Given the description of an element on the screen output the (x, y) to click on. 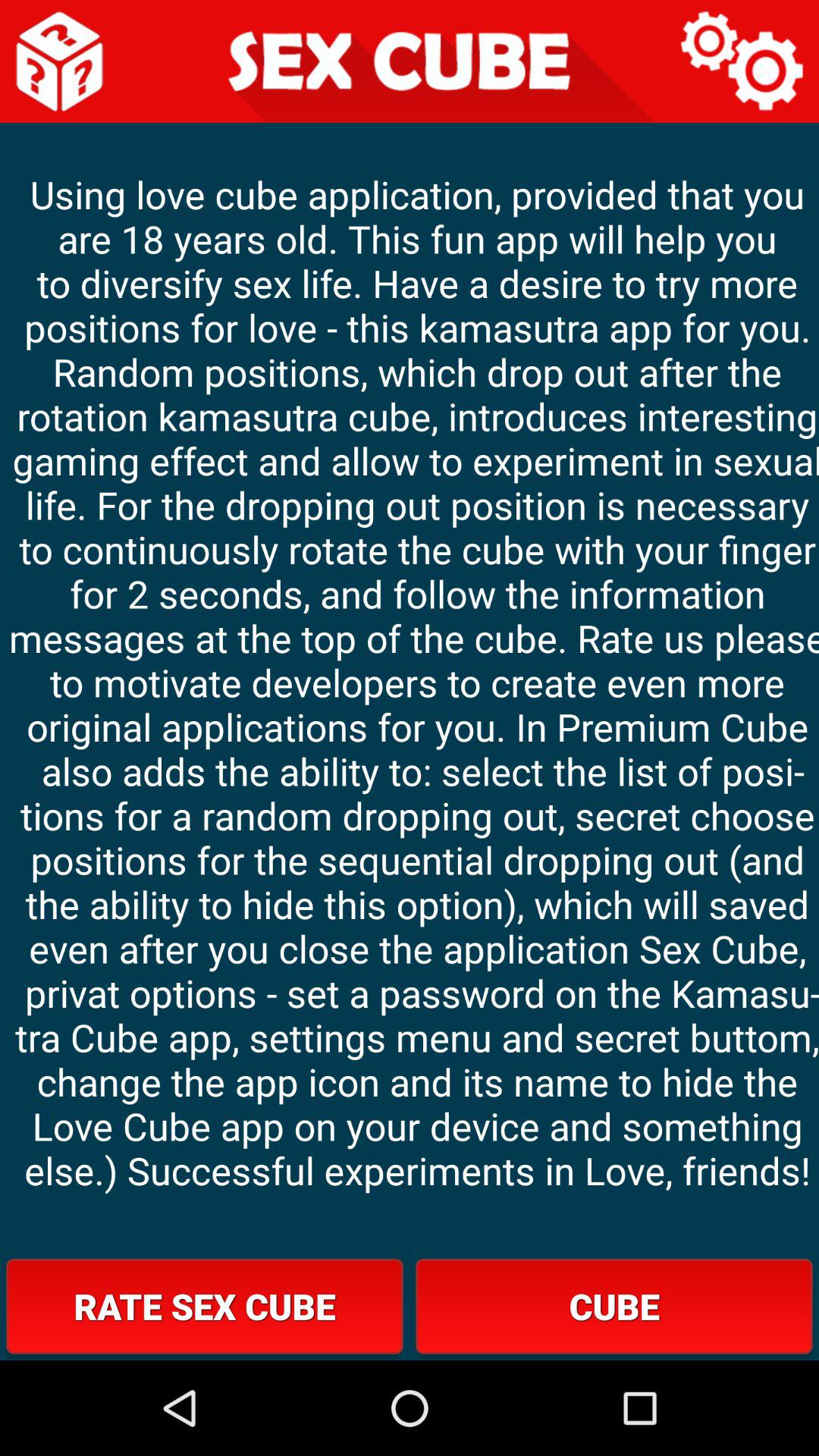
settings (743, 61)
